Given the description of an element on the screen output the (x, y) to click on. 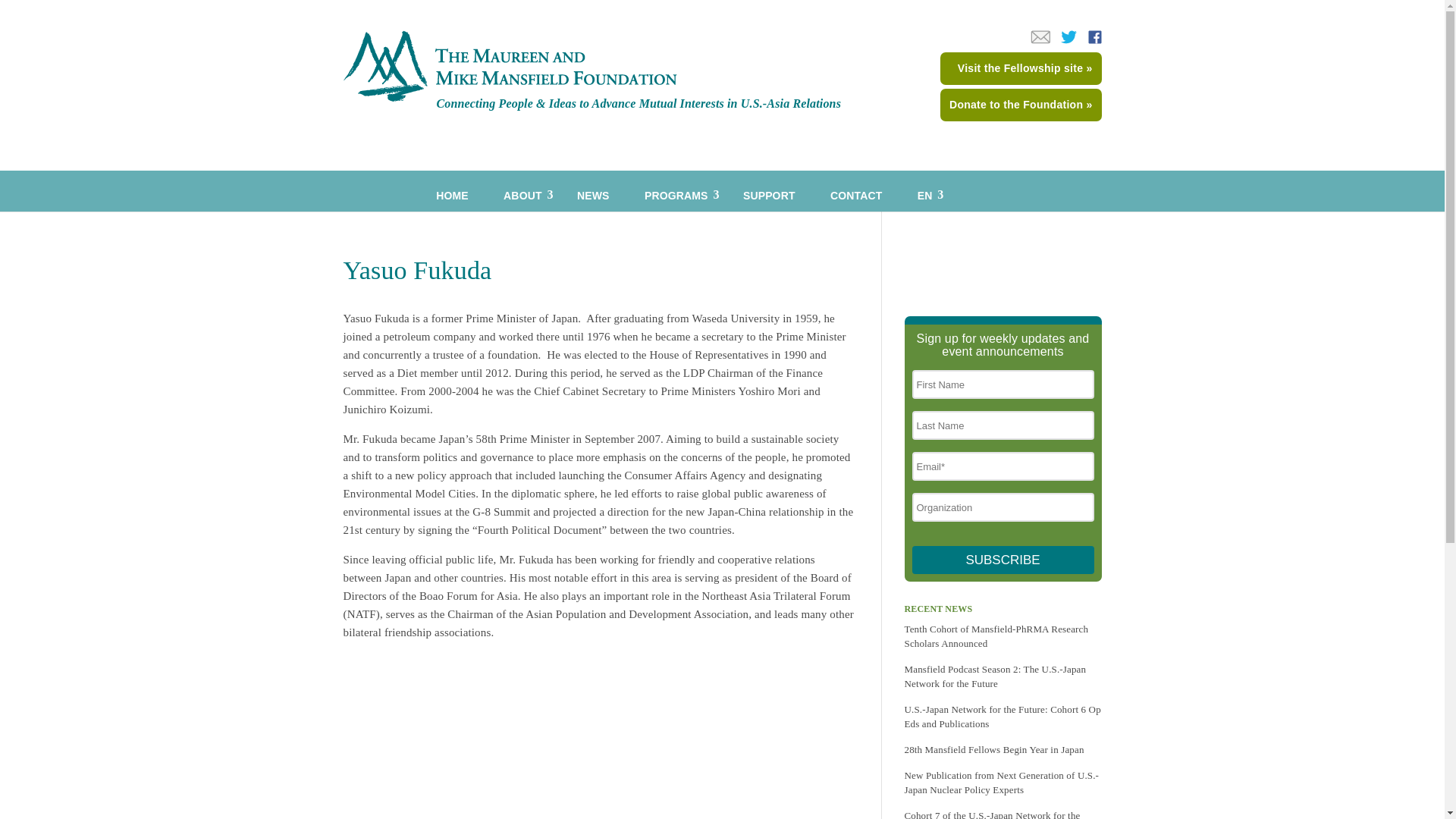
PROGRAMS (676, 190)
SUBSCRIBE (1002, 560)
ABOUT (522, 190)
